Given the description of an element on the screen output the (x, y) to click on. 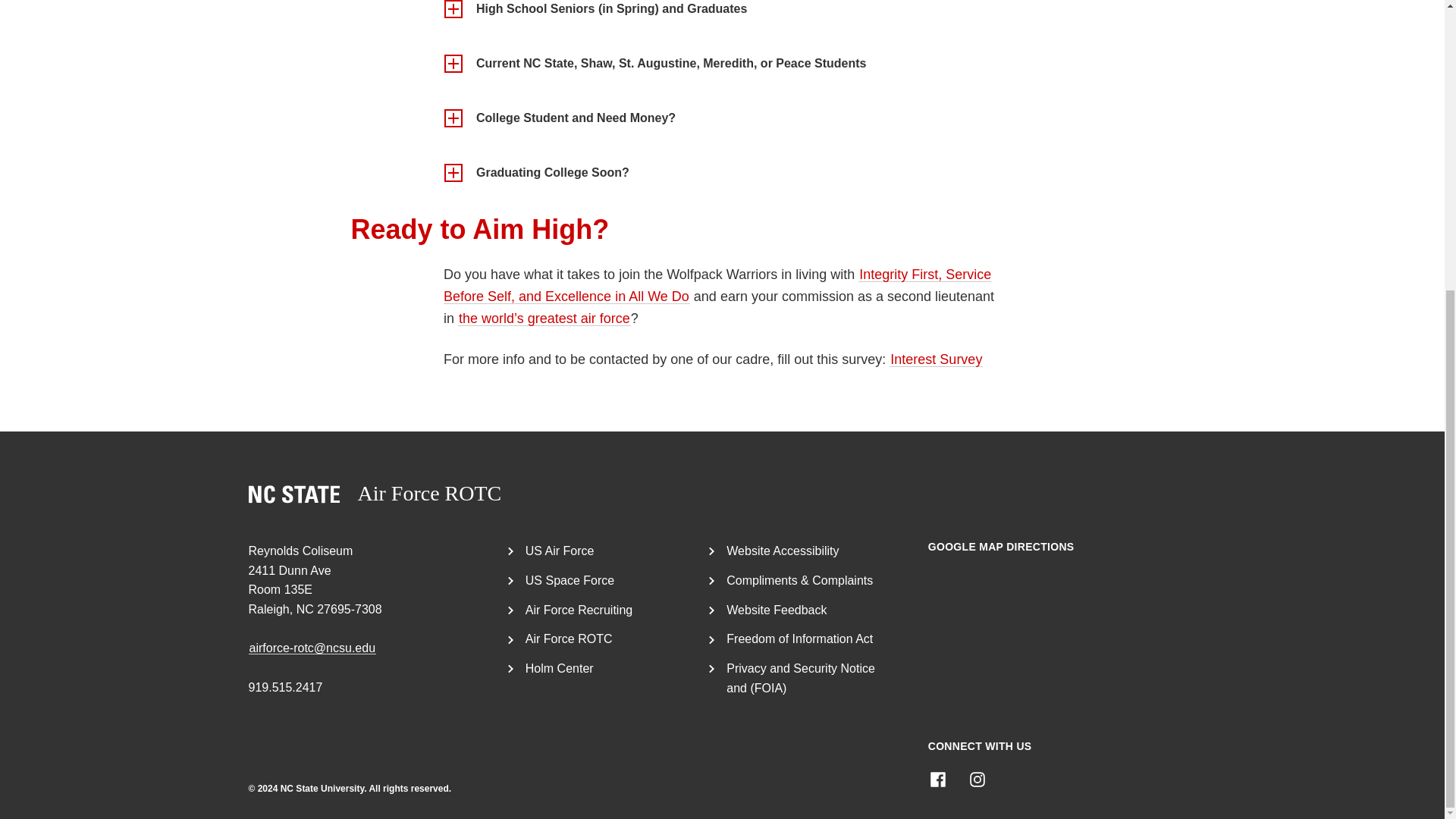
Facebook (937, 779)
Instagram (977, 779)
